Given the description of an element on the screen output the (x, y) to click on. 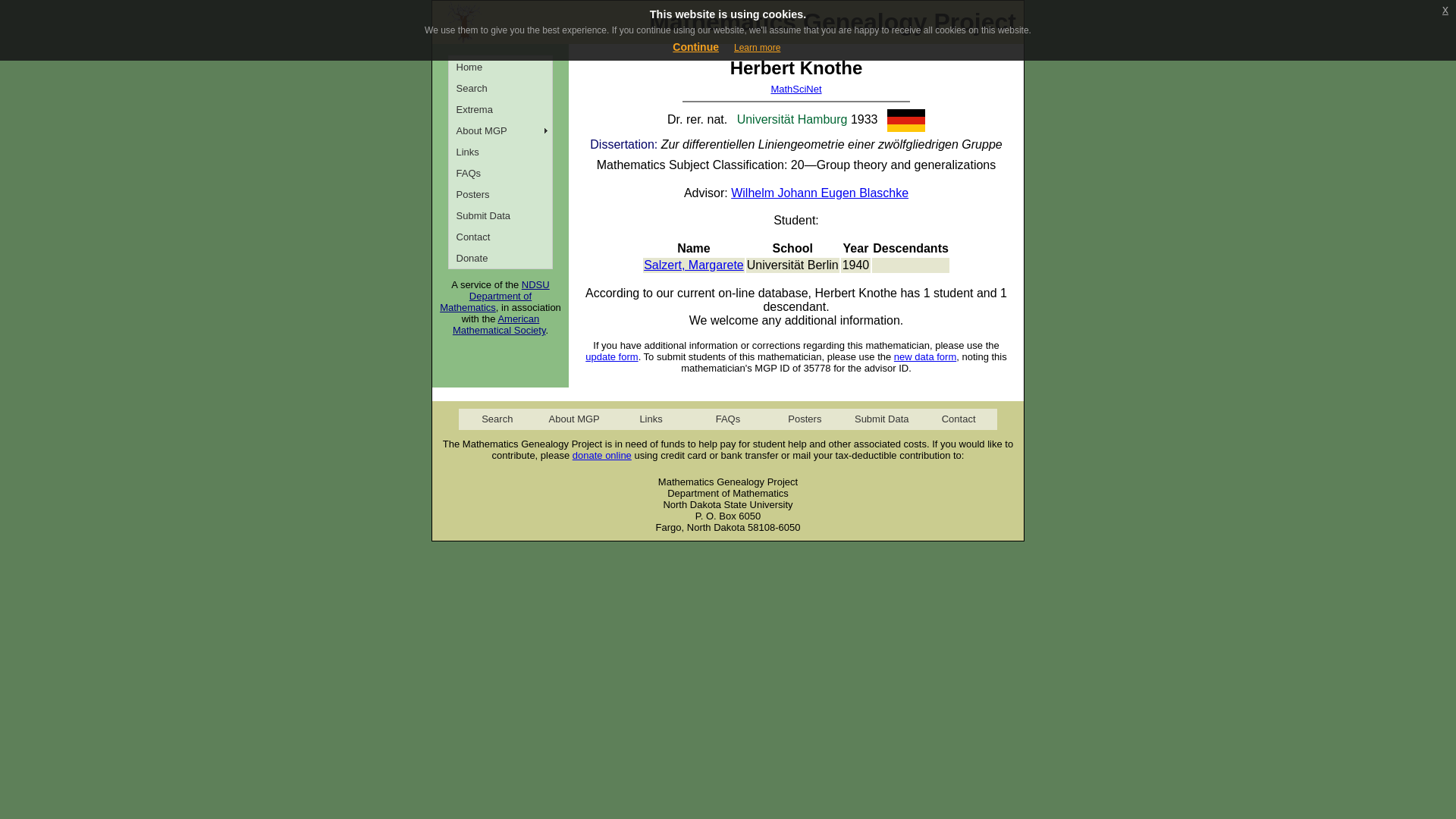
Donate (500, 257)
Department of Mathematics (485, 301)
Extrema (500, 108)
new data form (924, 356)
Posters (805, 418)
update form (611, 356)
donate online (601, 455)
Contact (957, 418)
Search (500, 87)
Contact (500, 236)
MathSciNet (795, 89)
Continue (695, 46)
Wilhelm Johann Eugen Blaschke (819, 192)
FAQs (726, 418)
Salzert, Margarete (693, 264)
